Given the description of an element on the screen output the (x, y) to click on. 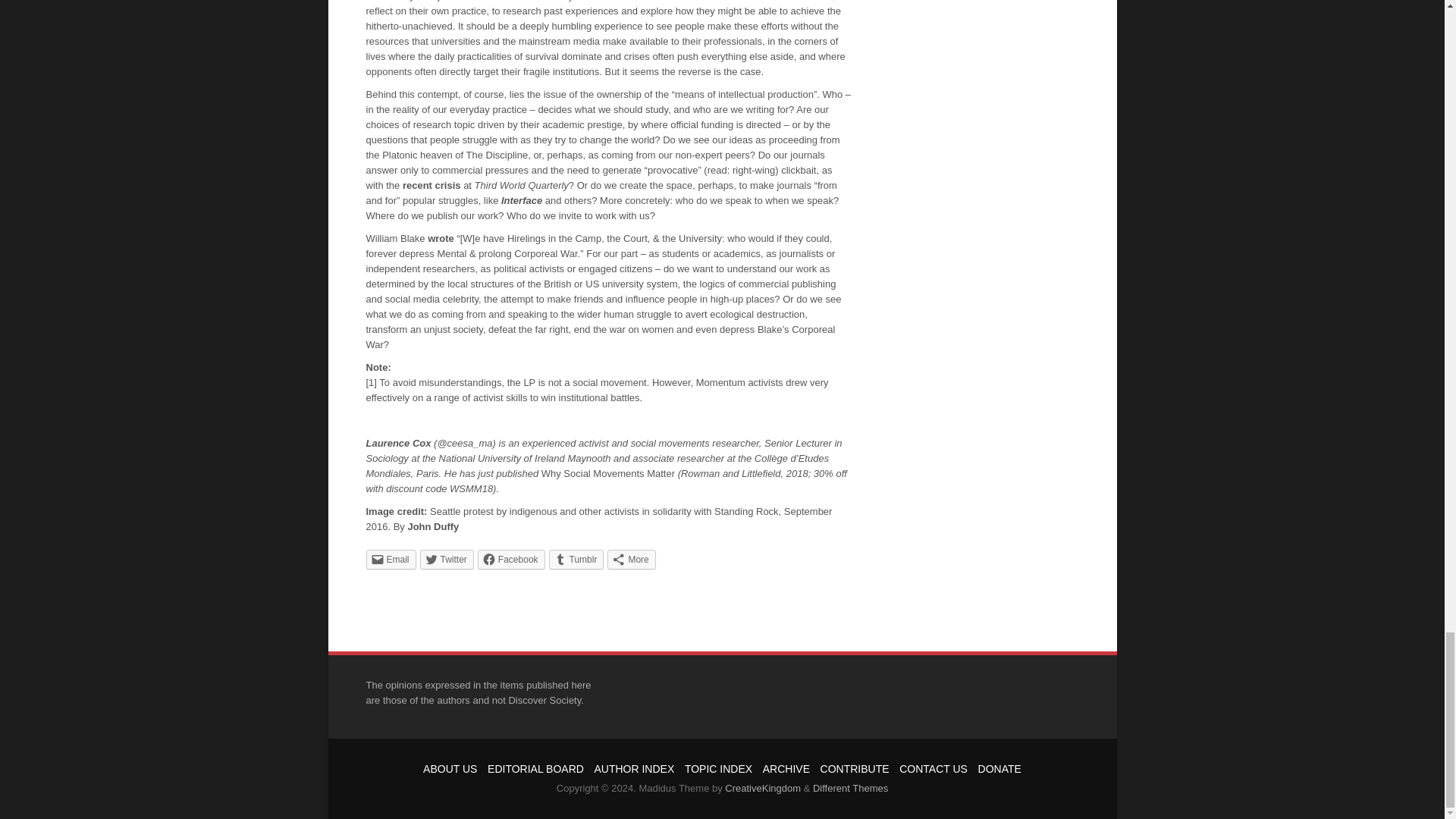
Click to share on Facebook (510, 558)
Click to email this to a friend (389, 558)
Click to share on Twitter (447, 558)
